Given the description of an element on the screen output the (x, y) to click on. 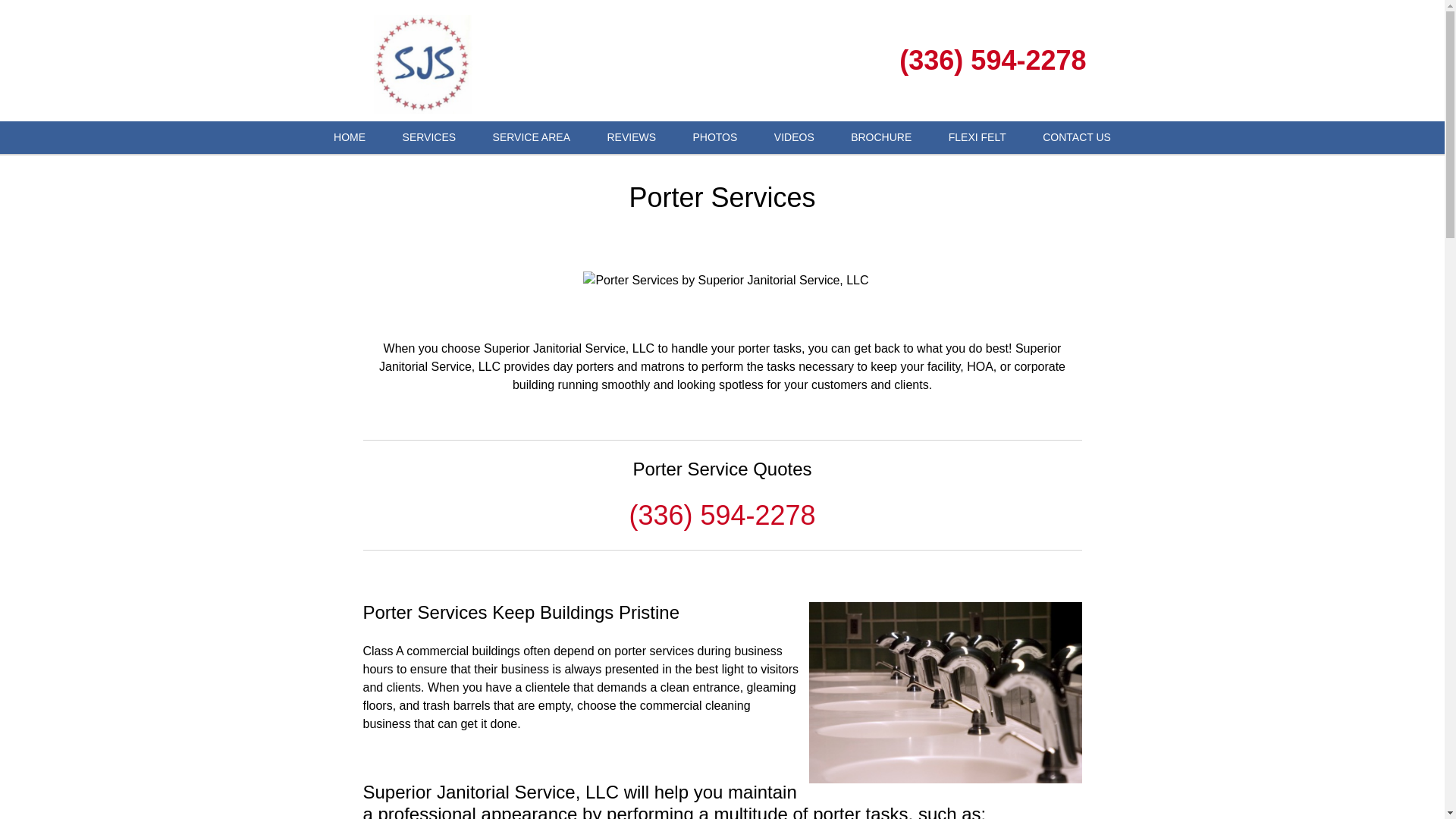
SERVICE AREA (531, 137)
BROCHURE (881, 137)
SERVICES (429, 137)
REVIEWS (630, 137)
VIDEOS (794, 137)
PHOTOS (714, 137)
FLEXI FELT (977, 137)
CONTACT US (1076, 137)
HOME (349, 137)
